Given the description of an element on the screen output the (x, y) to click on. 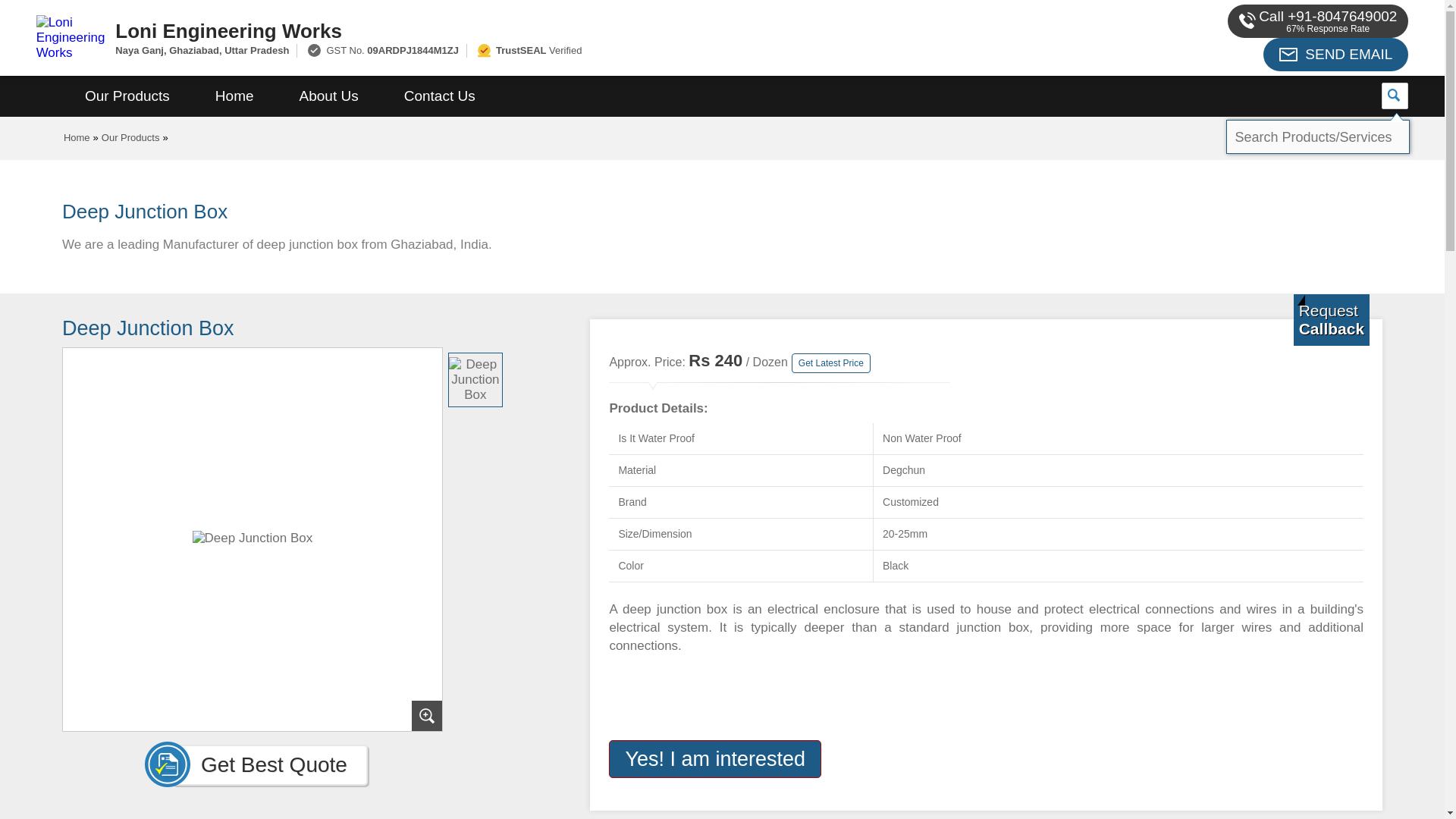
Contact Us (439, 96)
Our Products (127, 96)
Loni Engineering Works (552, 31)
Our Products (130, 137)
Home (77, 137)
About Us (328, 96)
Home (234, 96)
Get a Call from us (1332, 319)
